Given the description of an element on the screen output the (x, y) to click on. 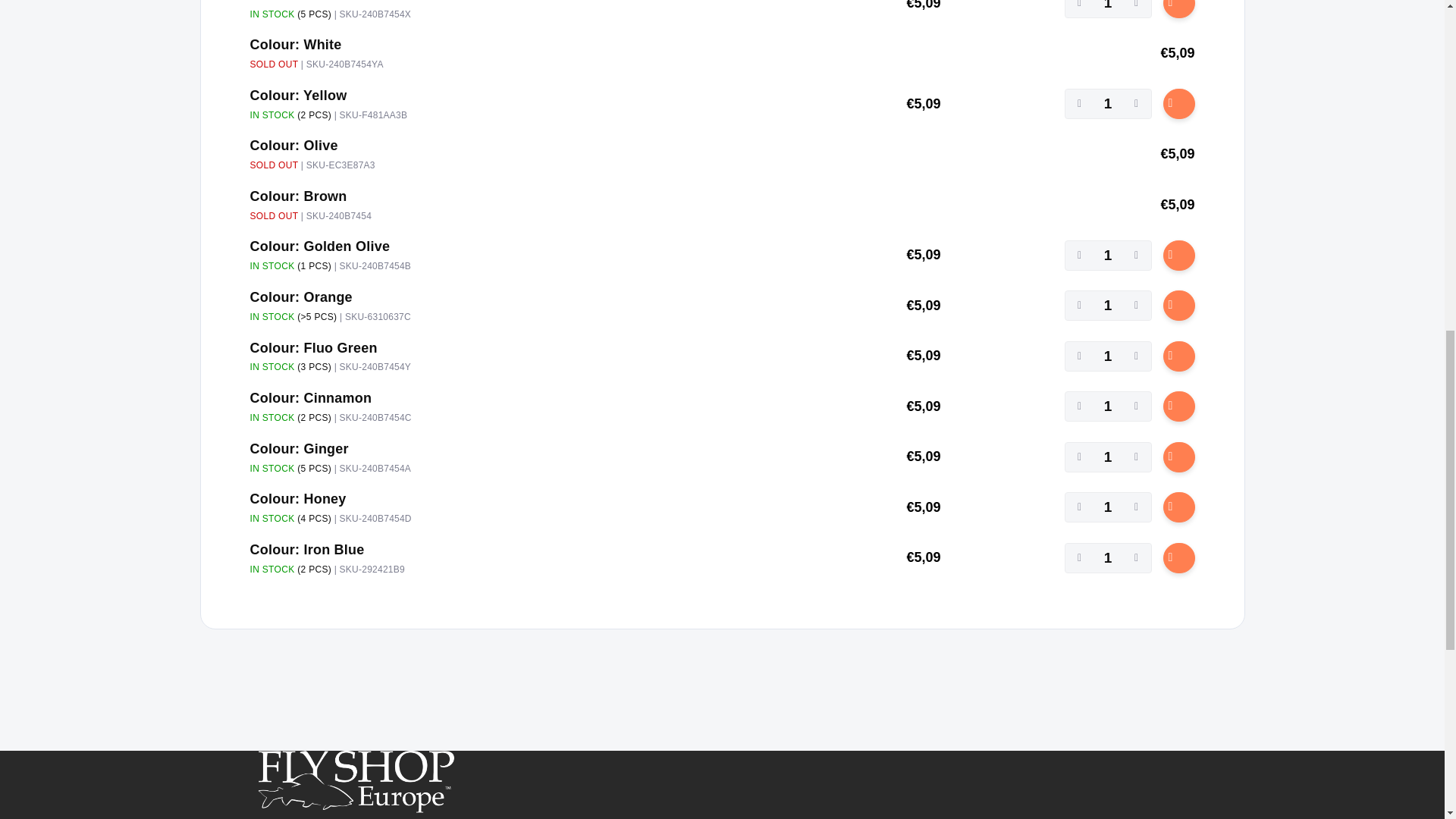
1 (1107, 103)
1 (1107, 457)
1 (1107, 507)
1 (1107, 406)
1 (1107, 356)
1 (1107, 9)
1 (1107, 255)
1 (1107, 557)
1 (1107, 305)
